Given the description of an element on the screen output the (x, y) to click on. 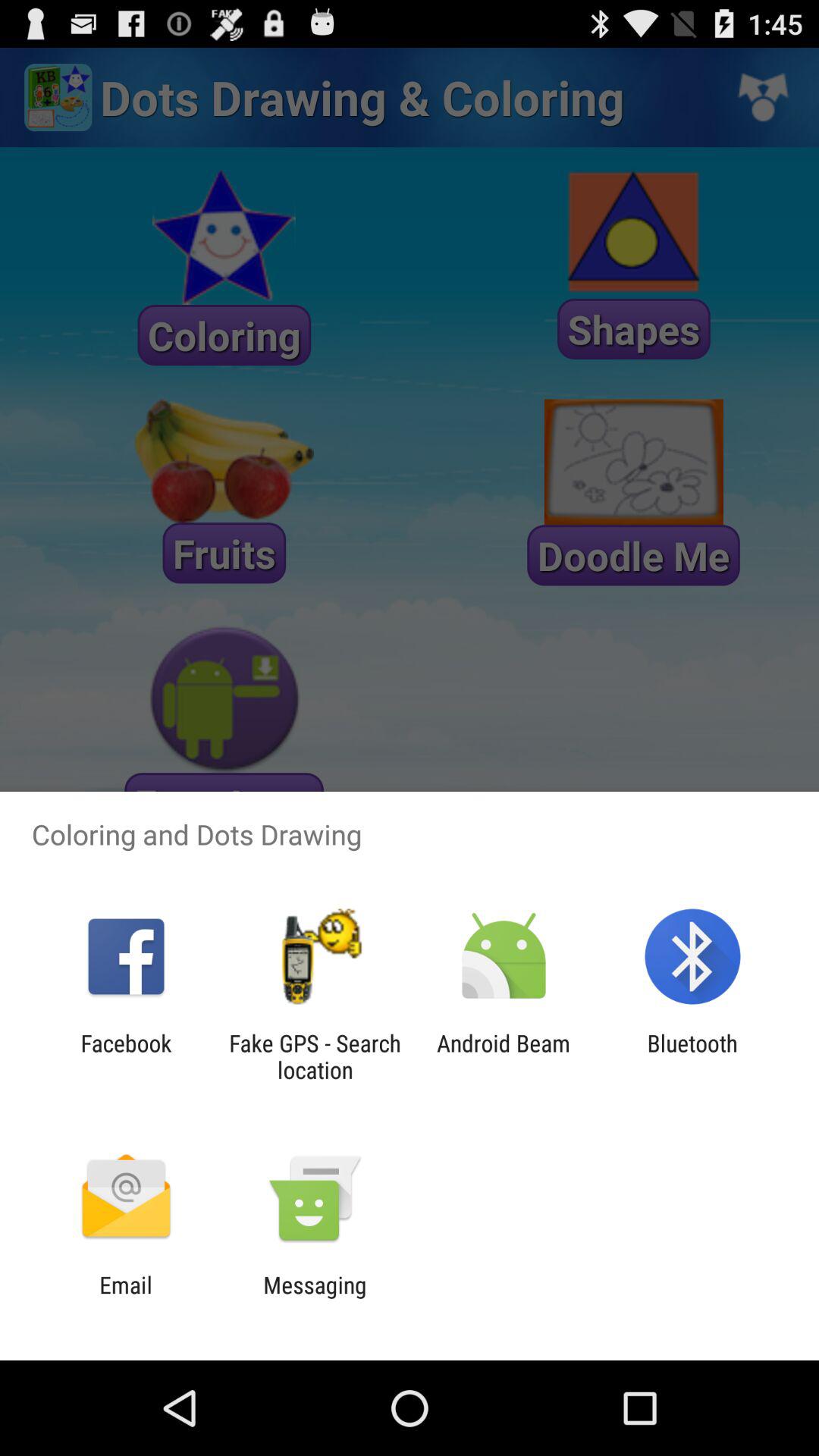
select icon to the left of the messaging item (125, 1298)
